Given the description of an element on the screen output the (x, y) to click on. 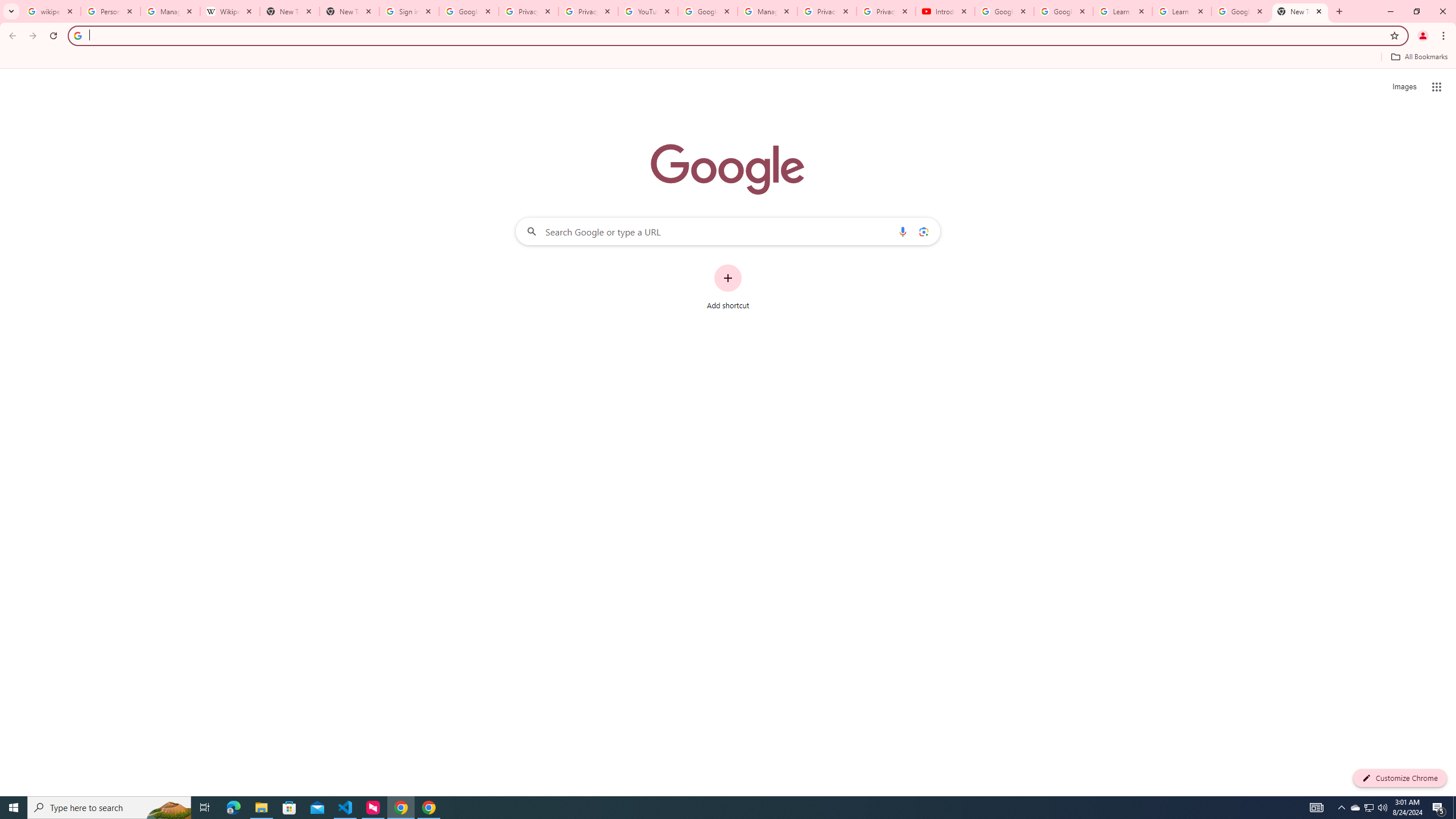
Search Google or type a URL (727, 230)
